Given the description of an element on the screen output the (x, y) to click on. 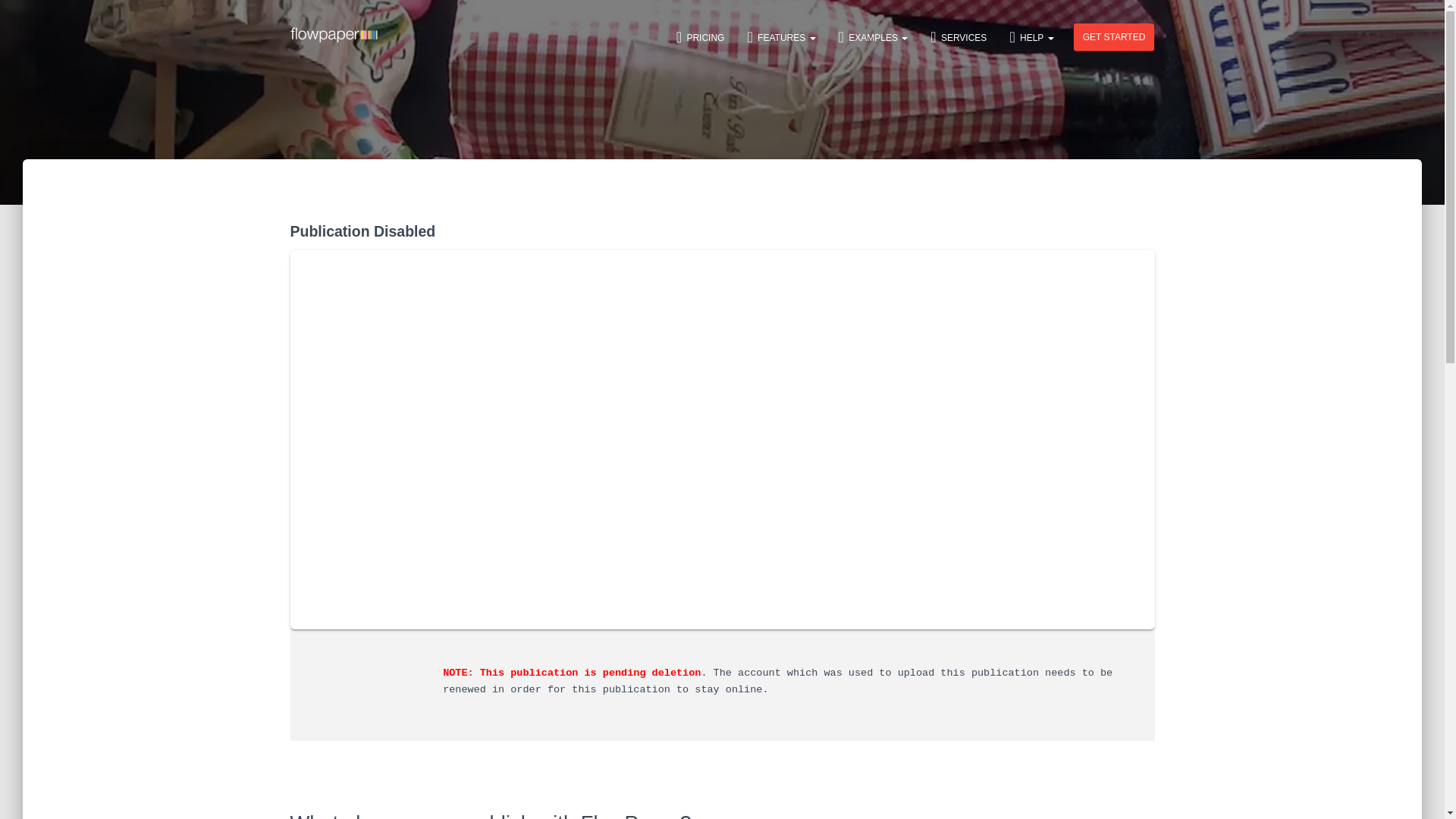
GET STARTED (1114, 36)
